Given the description of an element on the screen output the (x, y) to click on. 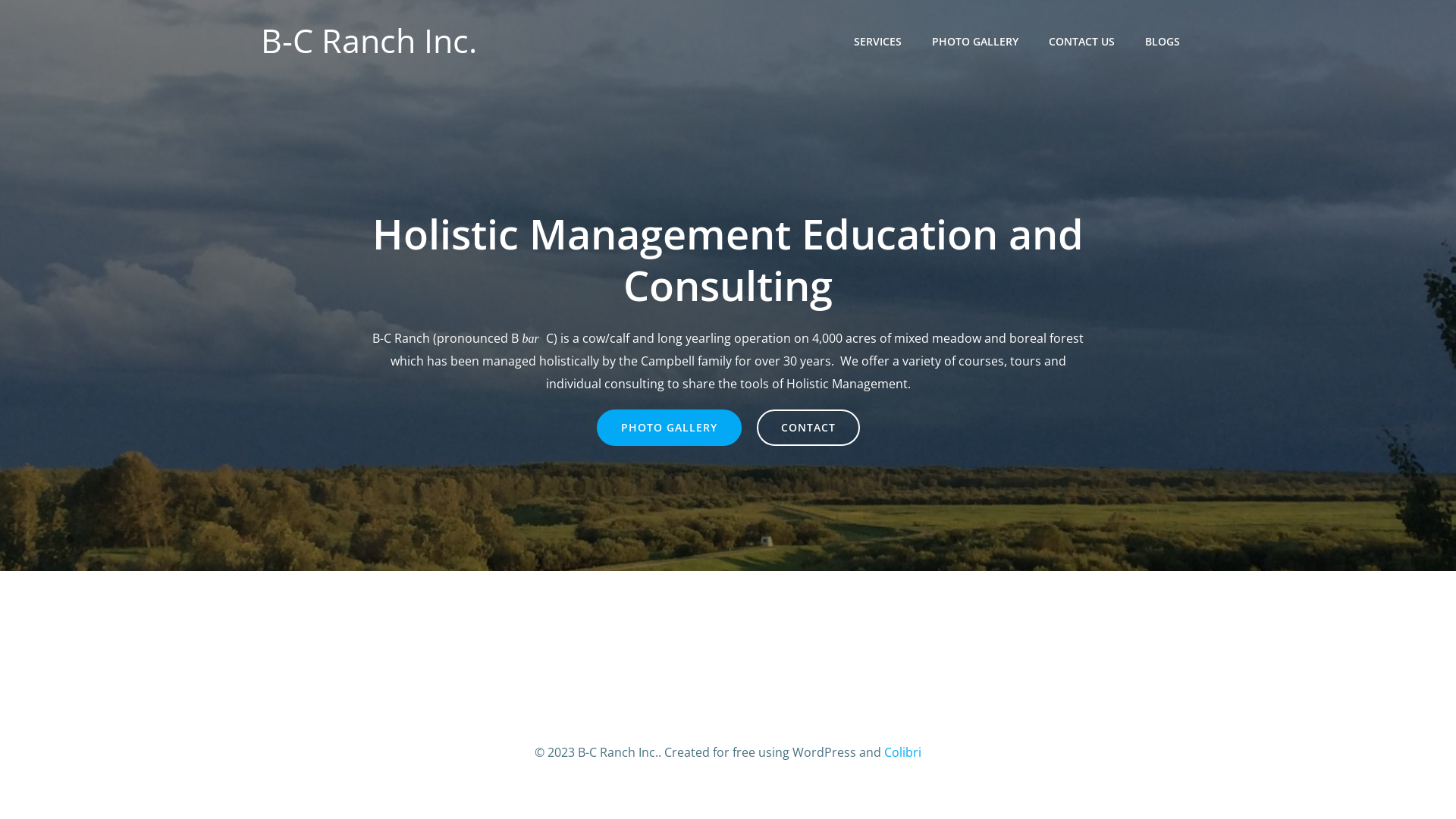
Colibri Element type: text (902, 751)
BLOGS Element type: text (1162, 41)
SERVICES Element type: text (877, 41)
PHOTO GALLERY Element type: text (974, 41)
PHOTO GALLERY Element type: text (668, 427)
CONTACT Element type: text (807, 427)
CONTACT US Element type: text (1081, 41)
